Given the description of an element on the screen output the (x, y) to click on. 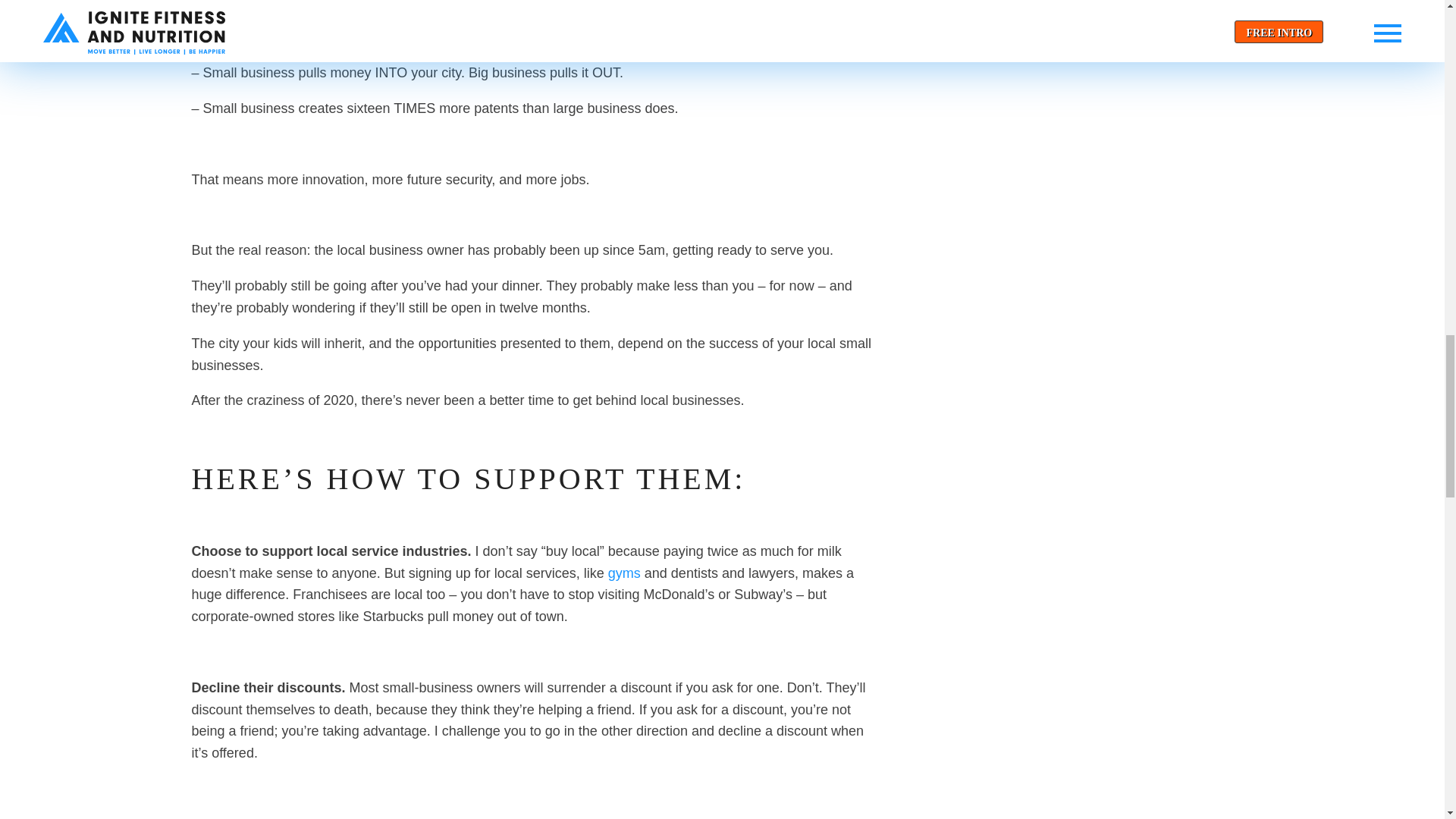
gyms (622, 572)
